Given the description of an element on the screen output the (x, y) to click on. 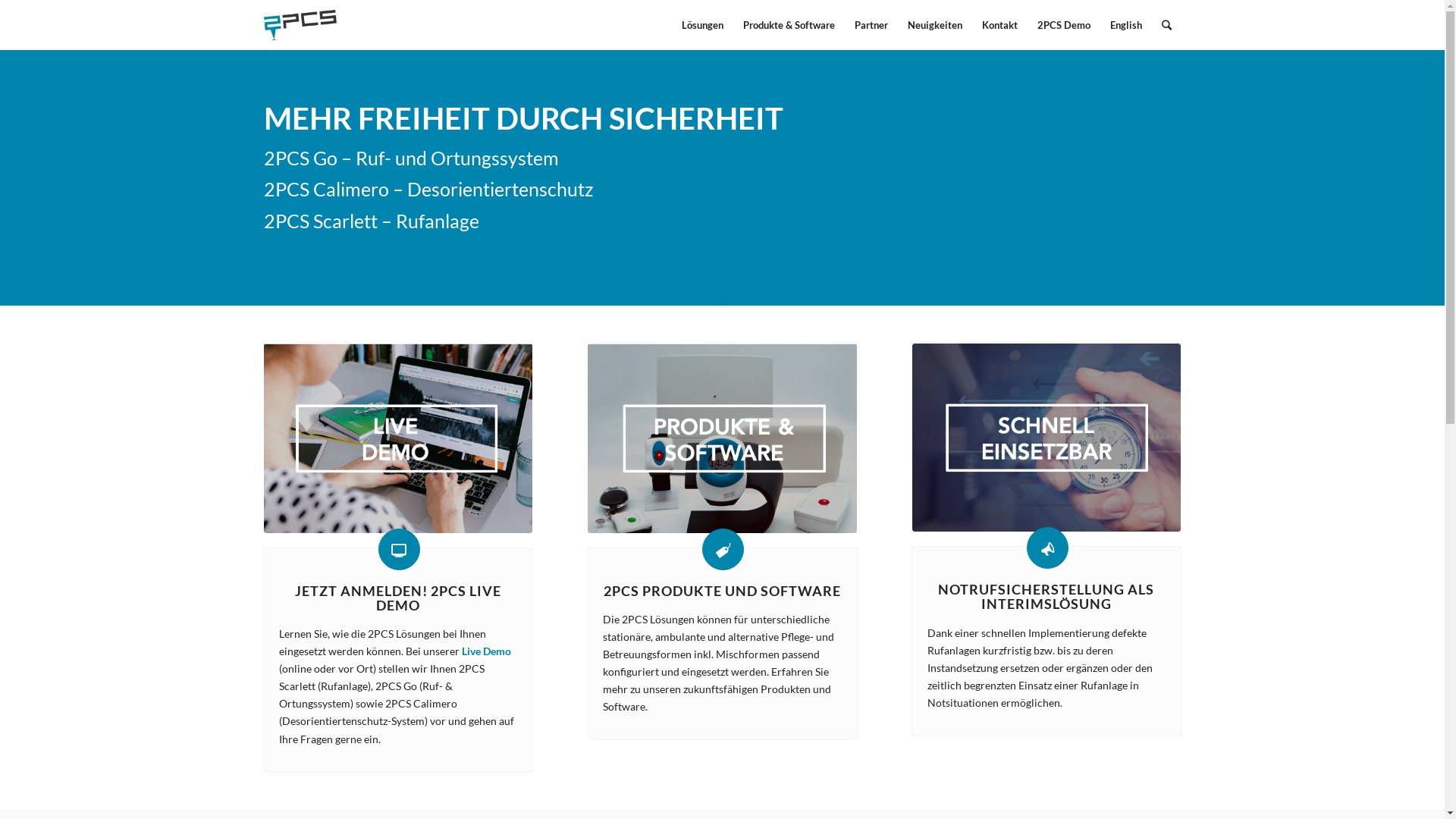
Produkte & Software Element type: text (788, 24)
2PCS Produkte Element type: hover (721, 438)
Neuigkeiten Element type: text (934, 24)
JETZT ANMELDEN! 2PCS LIVE DEMO Element type: text (397, 598)
2PCS Live Demo Element type: hover (398, 438)
Jetzt anmelden! 2PCS Live Demo Element type: hover (399, 549)
2PCS Schnell Einsetzbar Element type: hover (1046, 437)
2PCS Demo Element type: text (1062, 24)
English Element type: text (1125, 24)
2PCS Produkte und Software Element type: hover (722, 549)
Kontakt Element type: text (999, 24)
2PCS PRODUKTE UND SOFTWARE Element type: text (721, 591)
Partner Element type: text (870, 24)
